Given the description of an element on the screen output the (x, y) to click on. 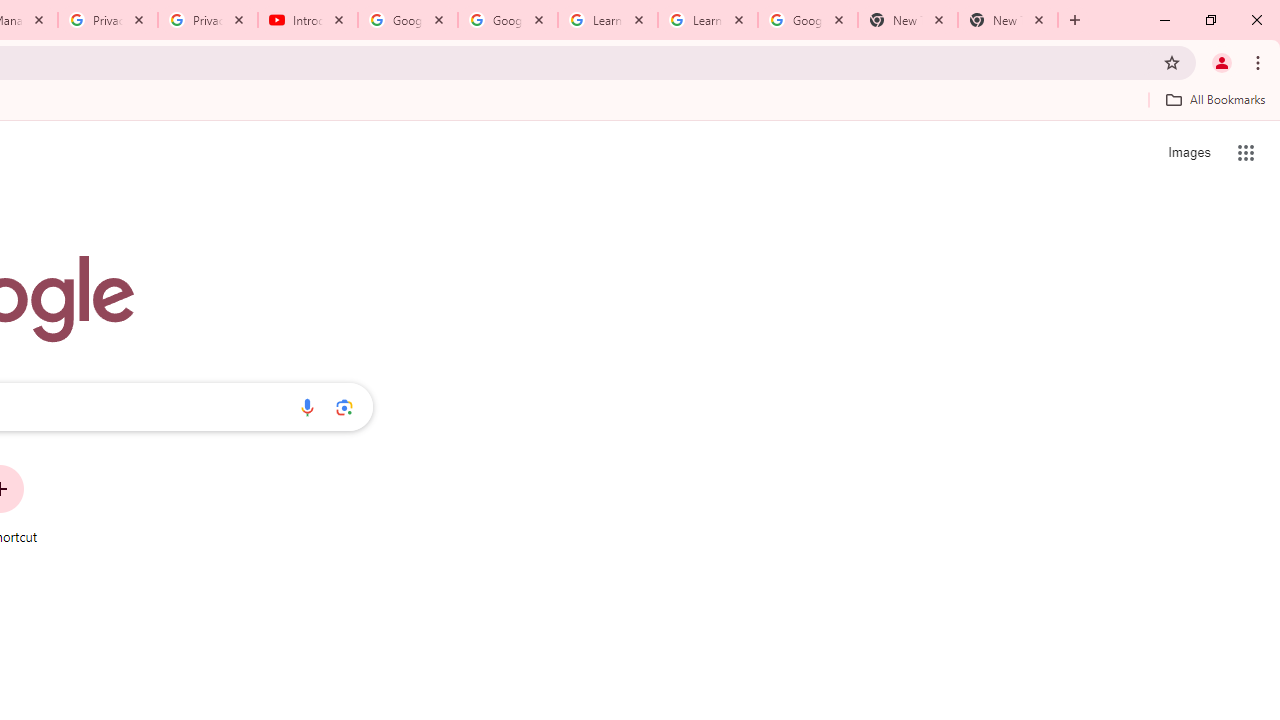
Search by voice (307, 407)
New Tab (907, 20)
Google Account Help (508, 20)
New Tab (1007, 20)
Google Account (807, 20)
